Given the description of an element on the screen output the (x, y) to click on. 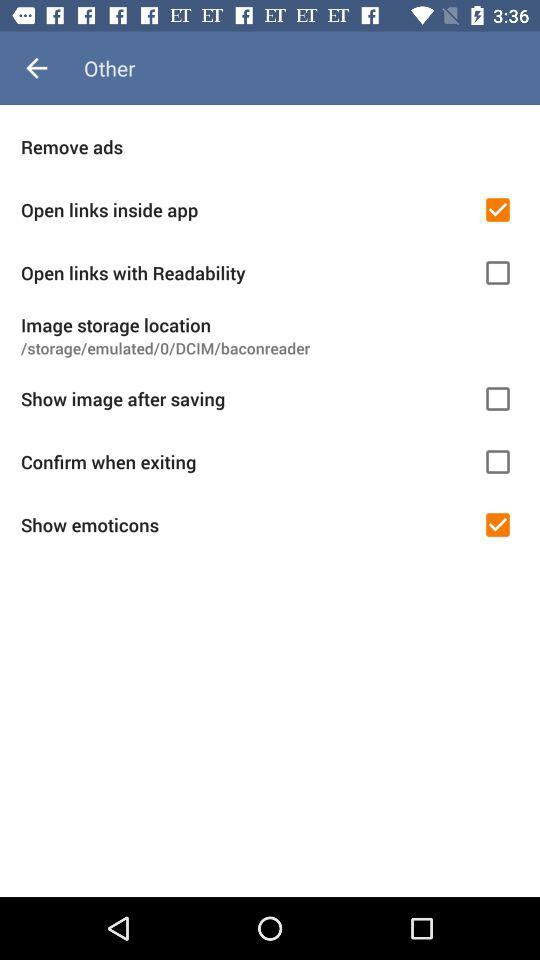
launch the icon below image storage location (270, 347)
